Given the description of an element on the screen output the (x, y) to click on. 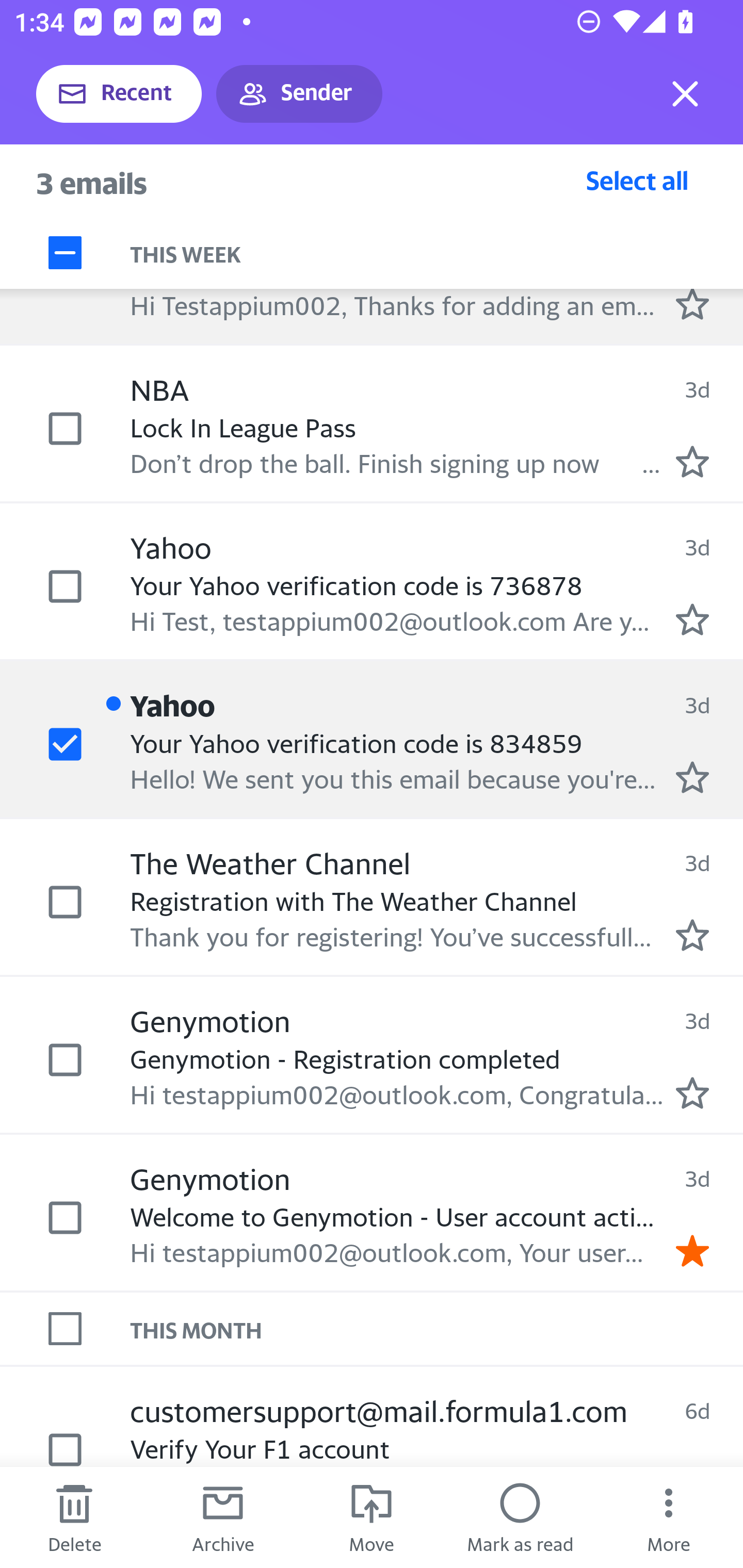
Sender (299, 93)
Exit selection mode (684, 93)
Select all (637, 180)
Mark as starred. (692, 303)
Mark as starred. (692, 461)
Mark as starred. (692, 620)
Mark as starred. (692, 776)
Mark as starred. (692, 935)
Mark as starred. (692, 1093)
Remove star. (692, 1250)
THIS MONTH (436, 1328)
Delete (74, 1517)
Archive (222, 1517)
Move (371, 1517)
Mark as read (519, 1517)
More (668, 1517)
